Given the description of an element on the screen output the (x, y) to click on. 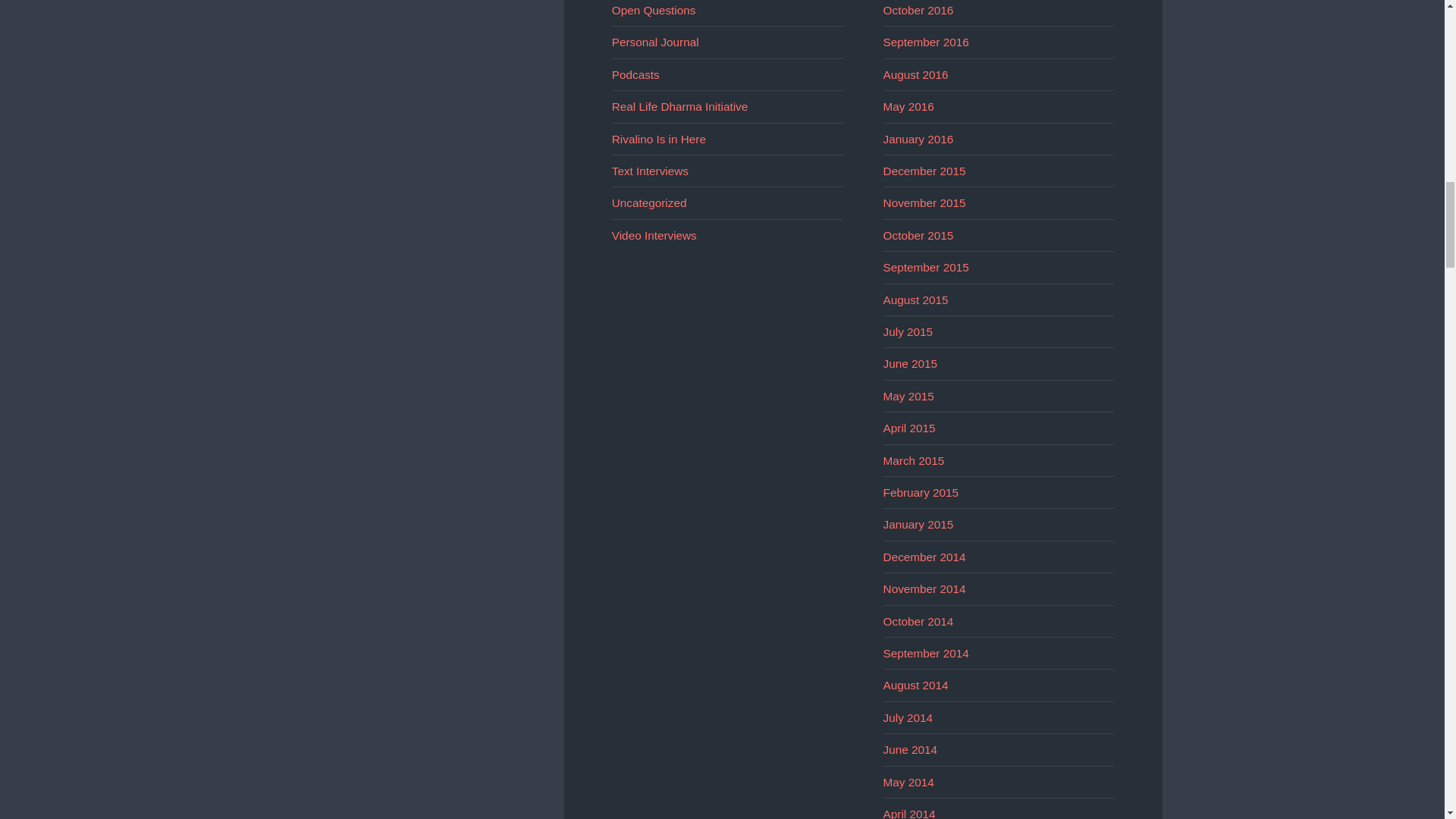
Rivalino Is in Here (658, 138)
Open Questions (653, 10)
Real Life Dharma Initiative (679, 106)
Podcasts (635, 74)
Text Interviews (649, 170)
Personal Journal (654, 42)
